Given the description of an element on the screen output the (x, y) to click on. 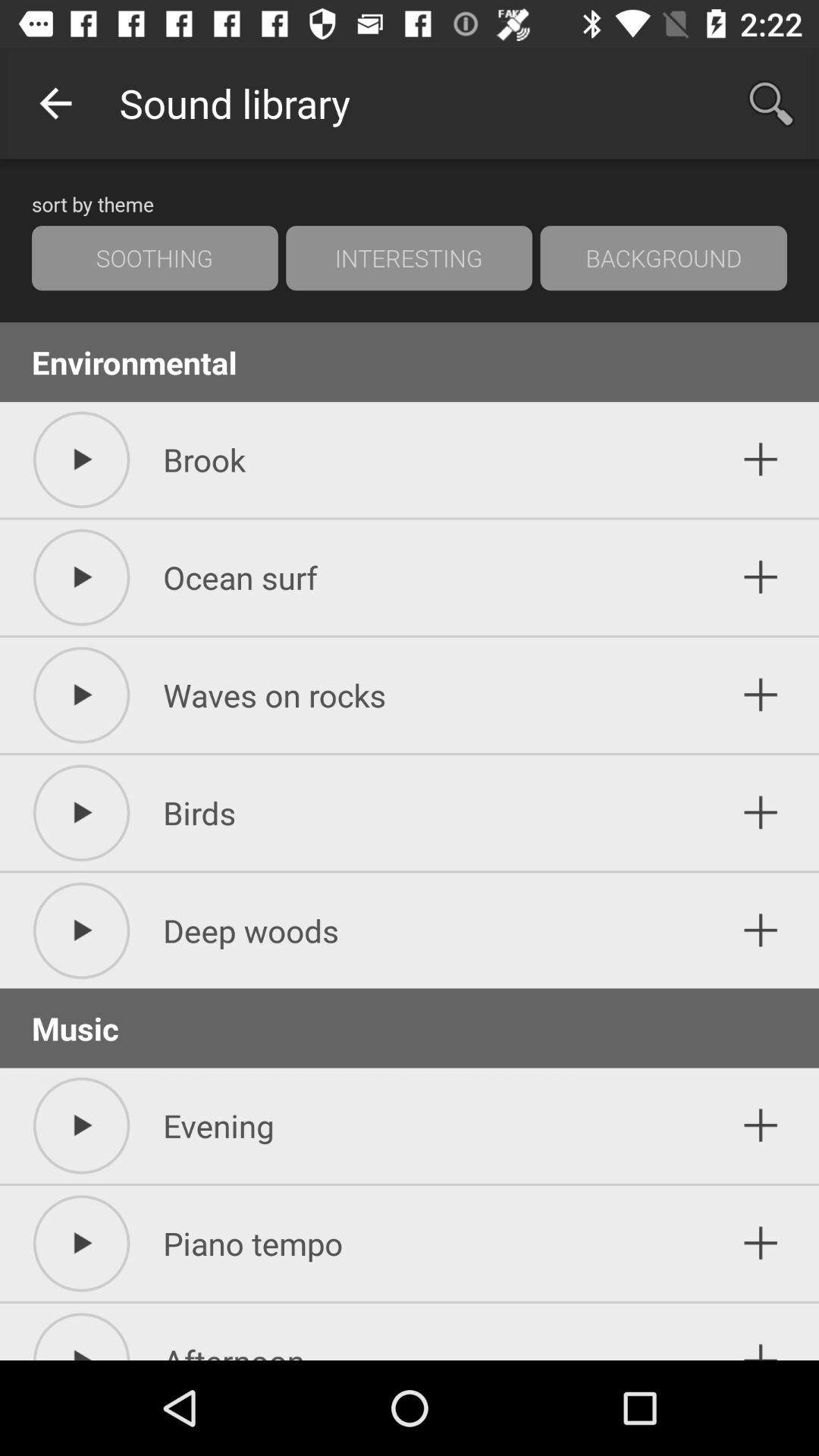
add to birds music (761, 812)
